Given the description of an element on the screen output the (x, y) to click on. 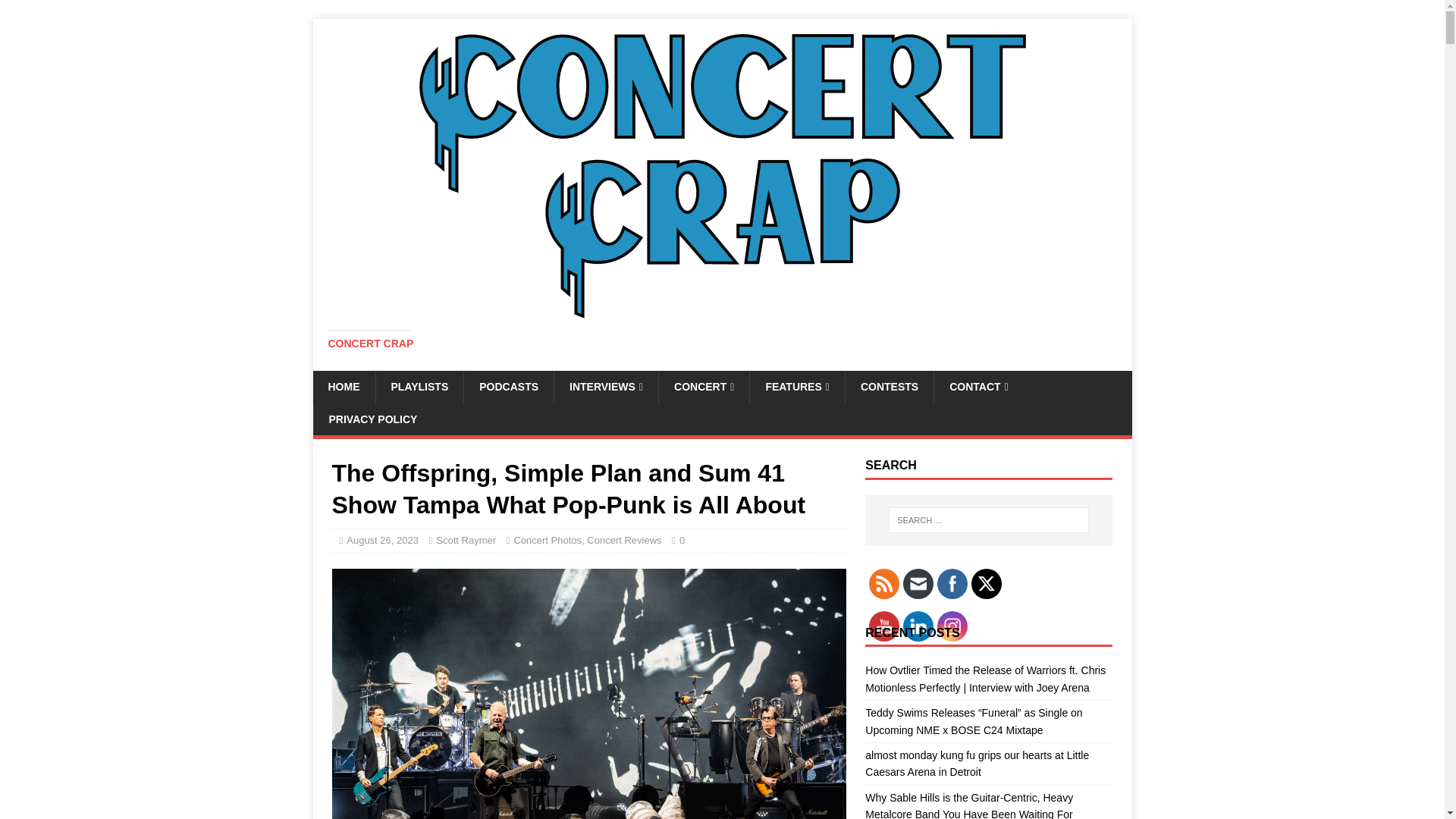
LinkedIn (918, 626)
YouTube (884, 626)
Facebook (951, 583)
Concert Photos (546, 540)
PRIVACY POLICY (372, 418)
Scott Raymer (465, 540)
Concert Crap (370, 343)
Follow by Email (918, 583)
Twitter (986, 583)
CONCERT CRAP (370, 343)
HOME (343, 386)
August 26, 2023 (382, 540)
CONTACT (978, 386)
INTERVIEWS (605, 386)
RSS (884, 583)
